Given the description of an element on the screen output the (x, y) to click on. 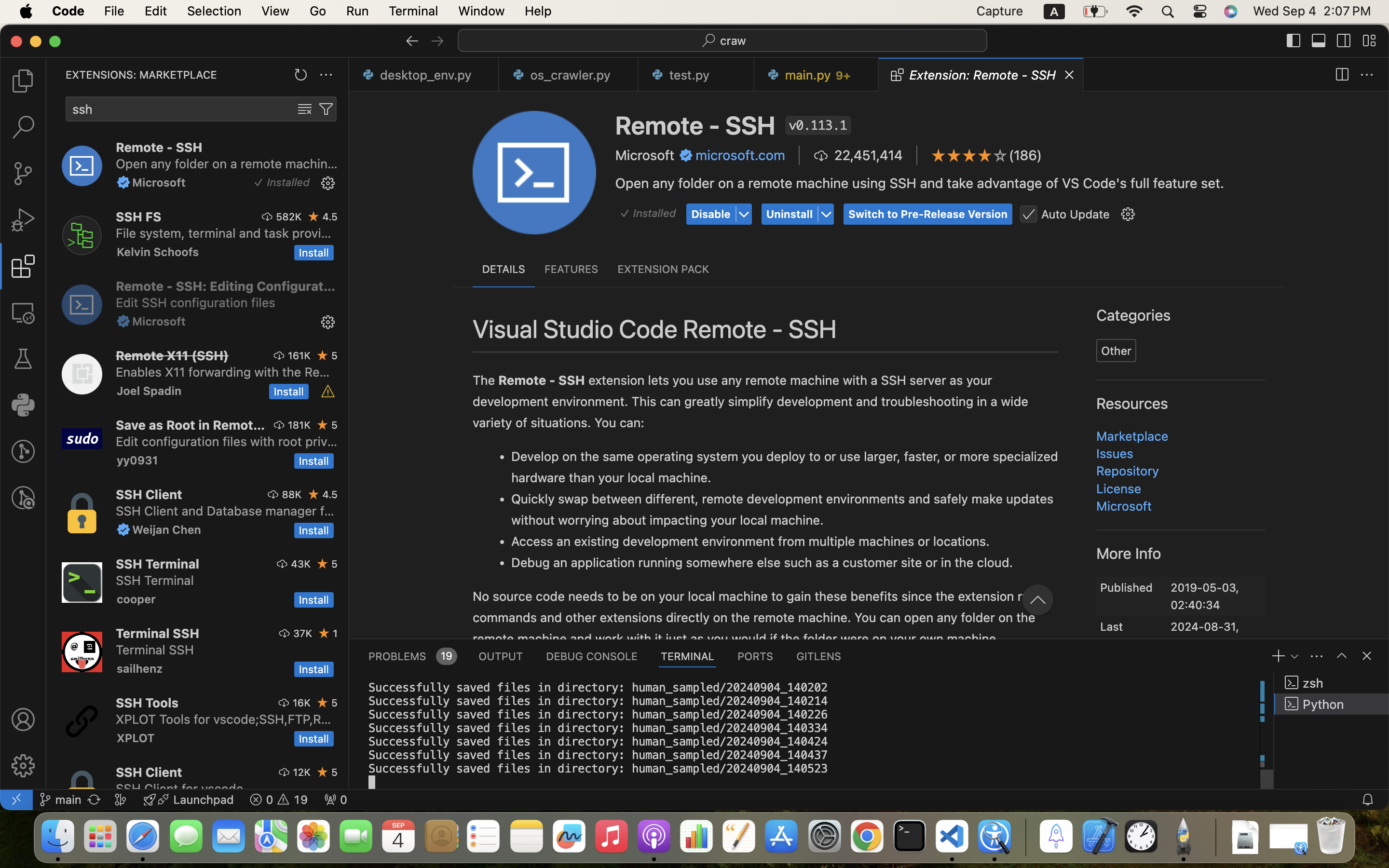
0 test.py   Element type: AXRadioButton (696, 74)
Categories Element type: AXStaticText (1133, 315)
161K Element type: AXStaticText (298, 355)
Remote - SSH Element type: AXStaticText (695, 124)
SSH Client and Database manager for MySQL/MariaDB, PostgreSQL, SQLite, Redis and ElasticSearch. Element type: AXStaticText (224, 510)
